Given the description of an element on the screen output the (x, y) to click on. 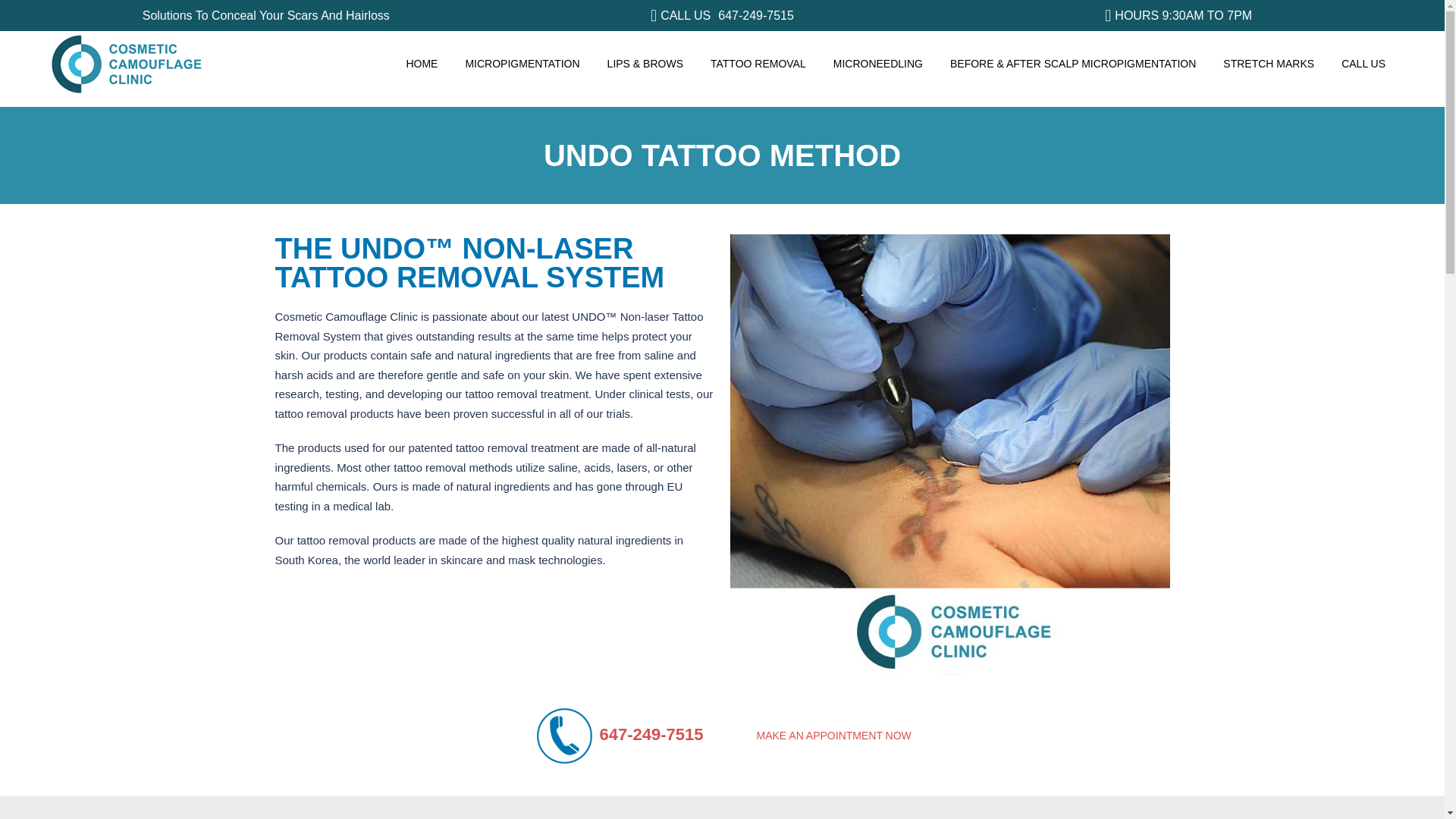
Cosmetic Camouflage Clinic (125, 62)
TATTOO REMOVAL (758, 64)
MAKE AN APPOINTMENT NOW (833, 735)
647-249-7515 (751, 14)
MICRONEEDLING (877, 64)
STRETCH MARKS (1268, 64)
CALL US (1363, 64)
647-249-7515 (650, 733)
MICROPIGMENTATION (521, 64)
HOME (421, 64)
